Given the description of an element on the screen output the (x, y) to click on. 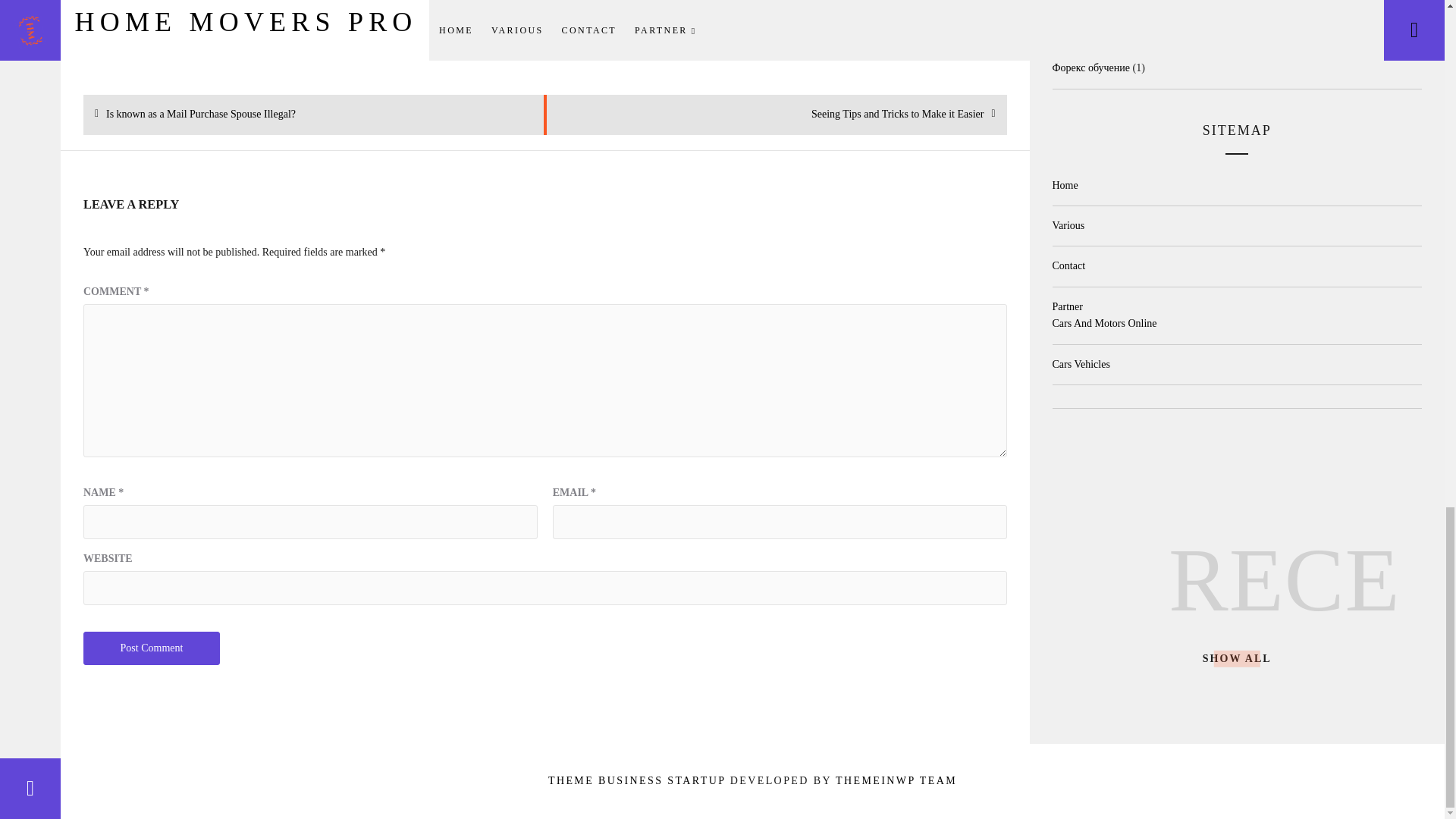
Post Comment (150, 648)
Post Comment (897, 114)
